Given the description of an element on the screen output the (x, y) to click on. 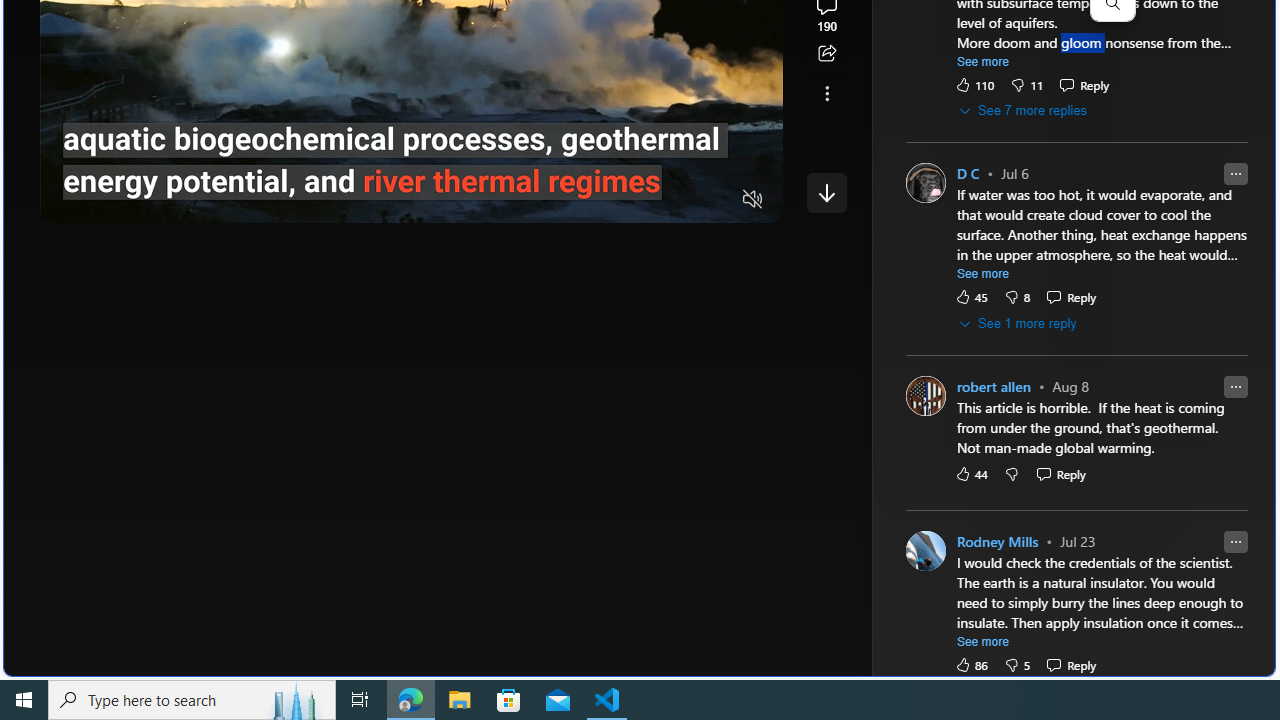
Profile Picture (924, 549)
Share this story (826, 53)
45 Like (970, 297)
AutomationID: e5rZOEMGacU1 (826, 192)
44 Like (970, 473)
D C (968, 174)
Unmute (753, 200)
Seek Back (109, 200)
